Given the description of an element on the screen output the (x, y) to click on. 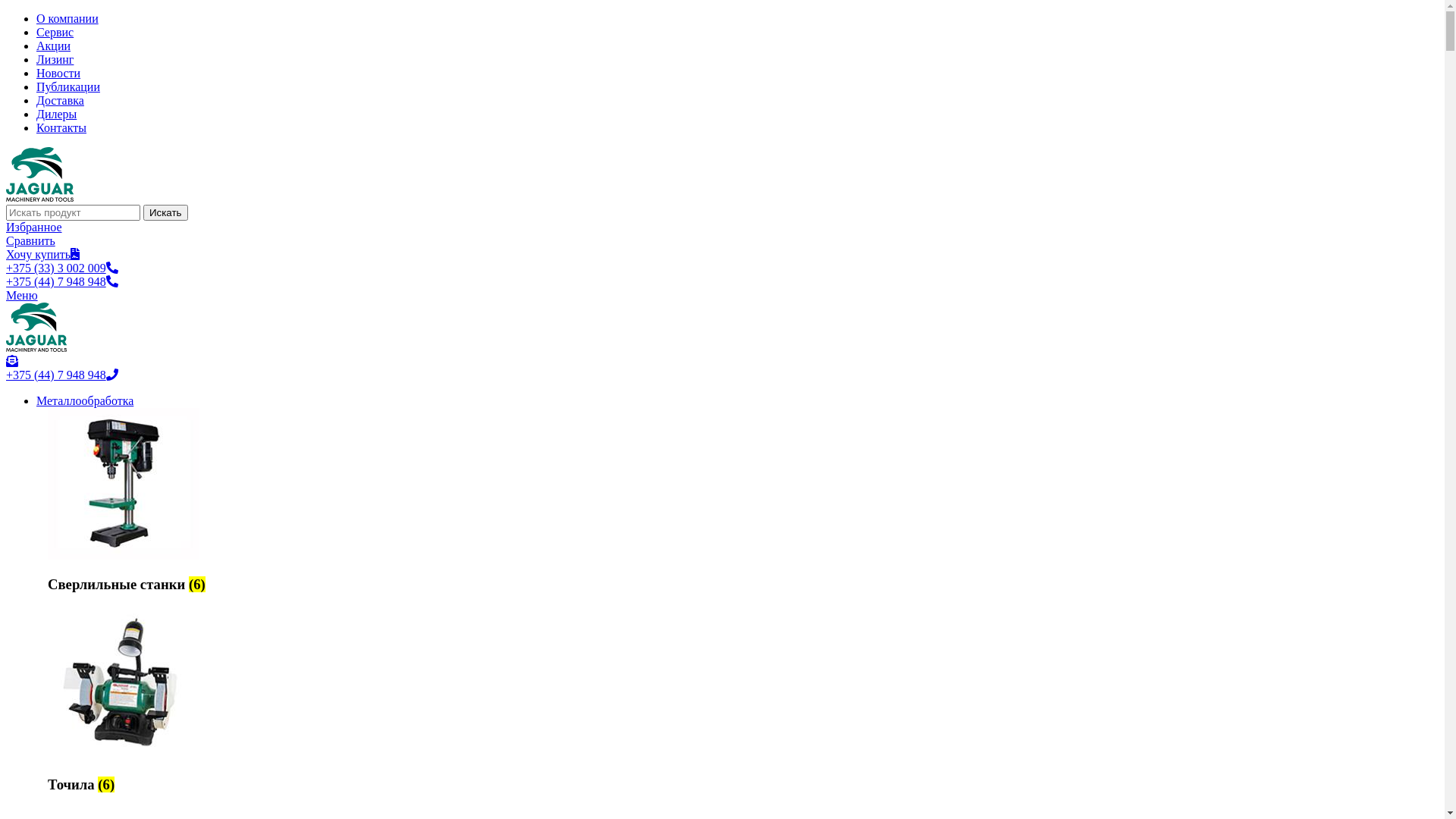
+375 (33) 3 002 009 Element type: text (62, 267)
+375 (44) 7 948 948 Element type: text (62, 281)
+375 (44) 7 948 948 Element type: text (62, 374)
